Given the description of an element on the screen output the (x, y) to click on. 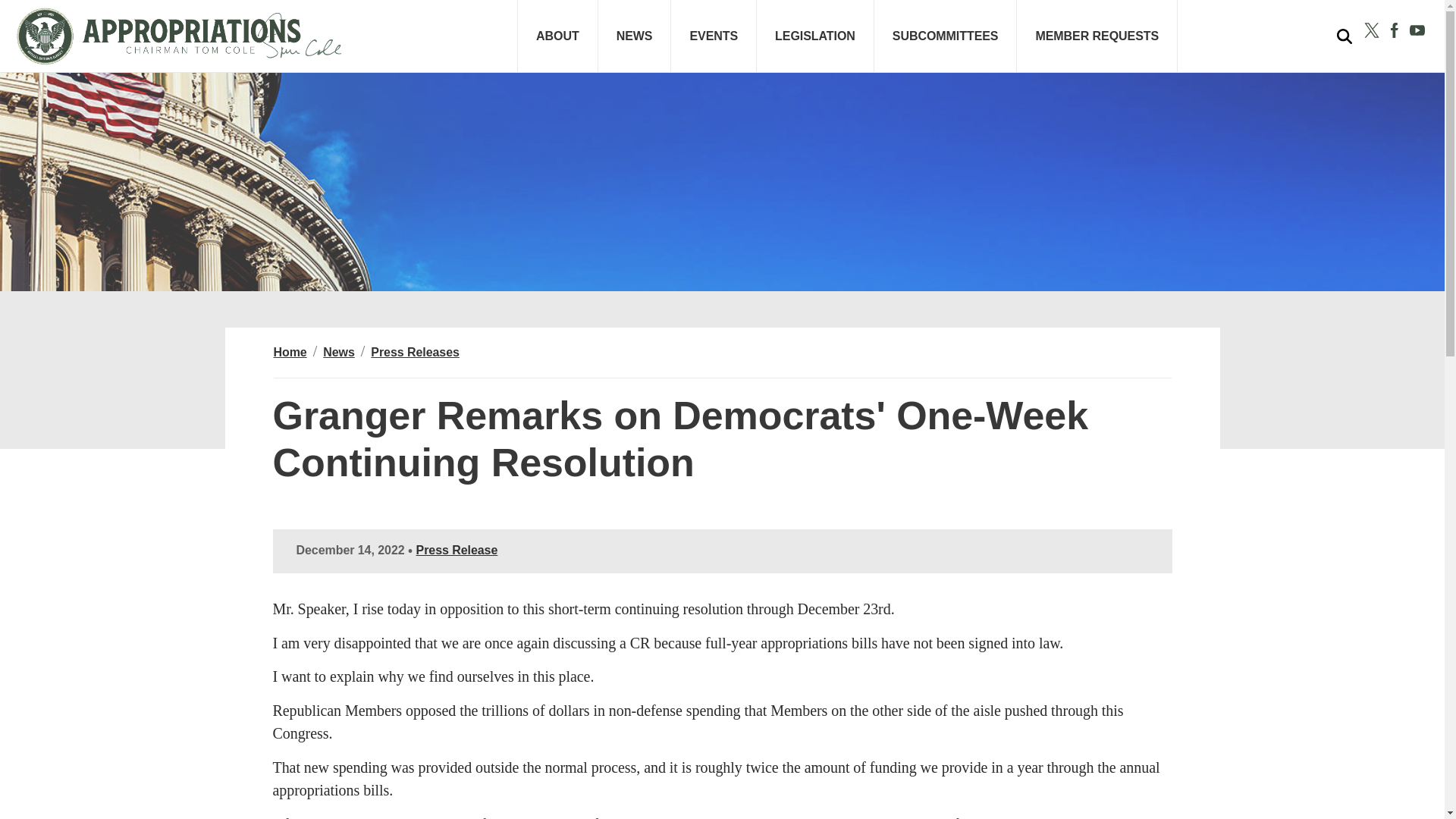
LEGISLATION (816, 36)
Agriculture, Rural Development, Food and Drug Administration (959, 96)
NEWS (634, 36)
Energy and Water Development and Related Agencies (1420, 96)
ABOUT (557, 36)
X Icon (1371, 29)
MEMBER REQUESTS (1096, 36)
EVENTS (714, 36)
Defense (1299, 83)
